Given the description of an element on the screen output the (x, y) to click on. 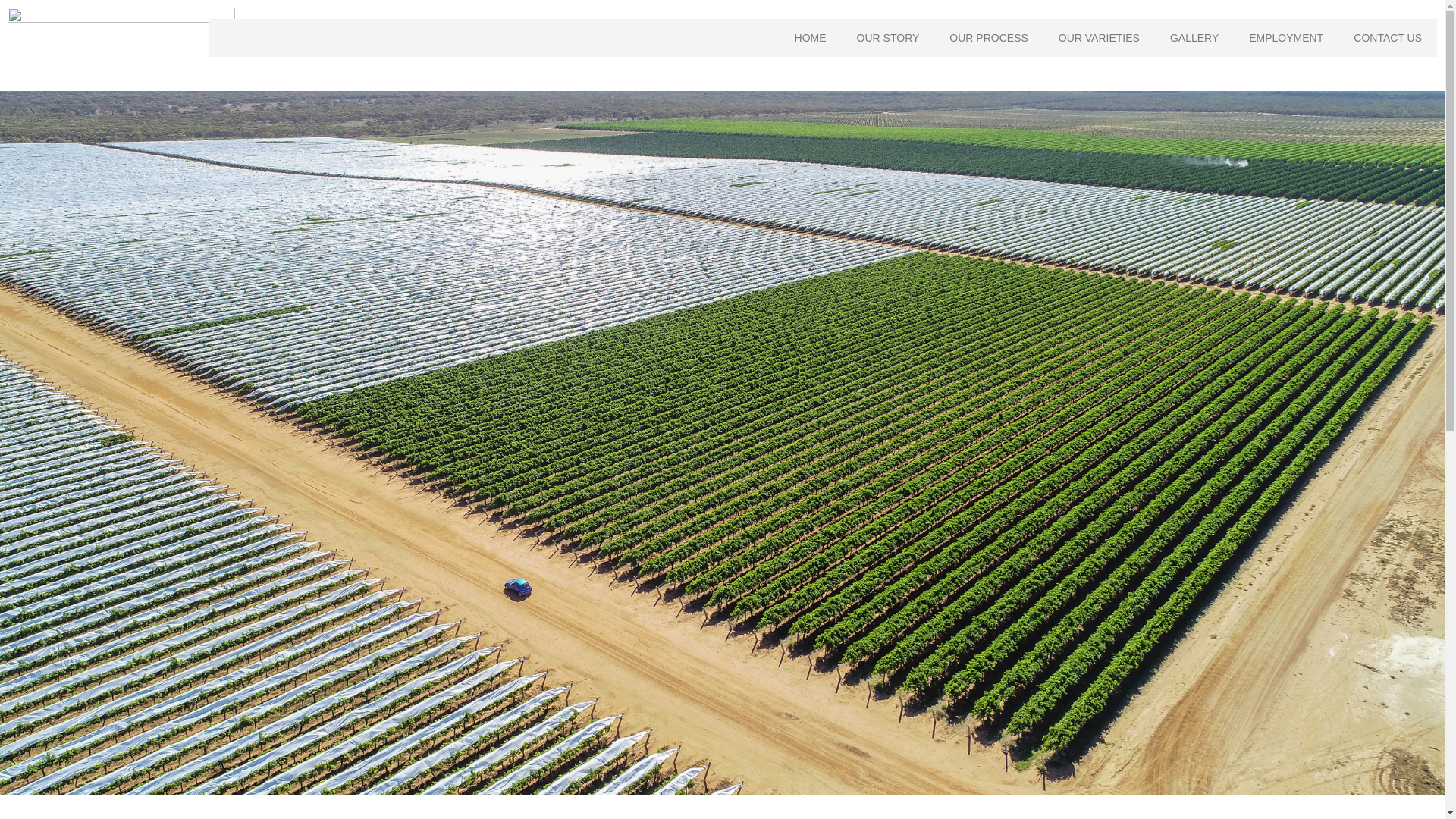
CONTACT US (1387, 37)
OUR VARIETIES (1098, 37)
GALLERY (1193, 37)
OUR PROCESS (988, 37)
OUR STORY (887, 37)
EMPLOYMENT (1285, 37)
HOME (809, 37)
